Given the description of an element on the screen output the (x, y) to click on. 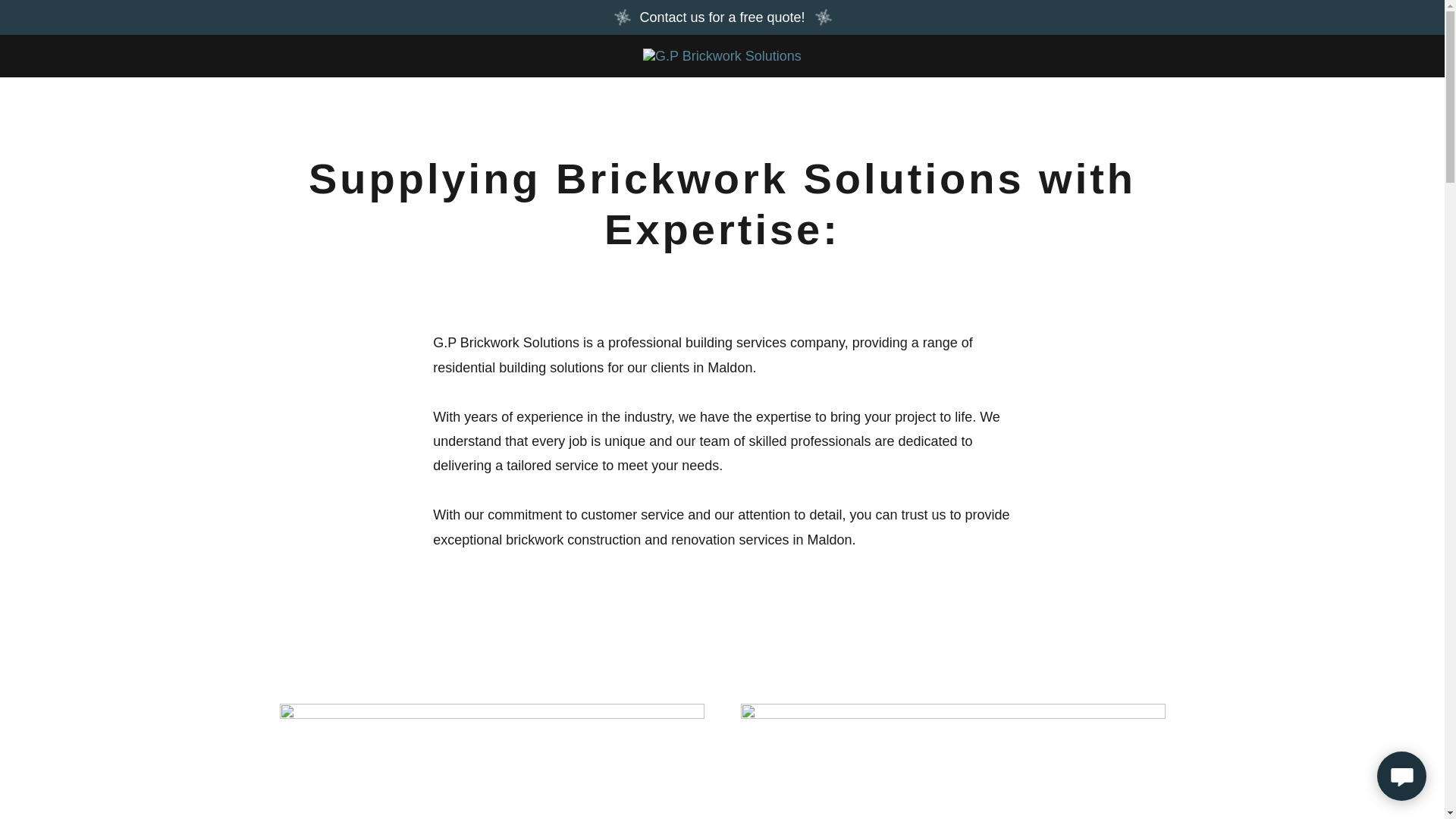
G.P Brickwork Solutions (722, 55)
